Given the description of an element on the screen output the (x, y) to click on. 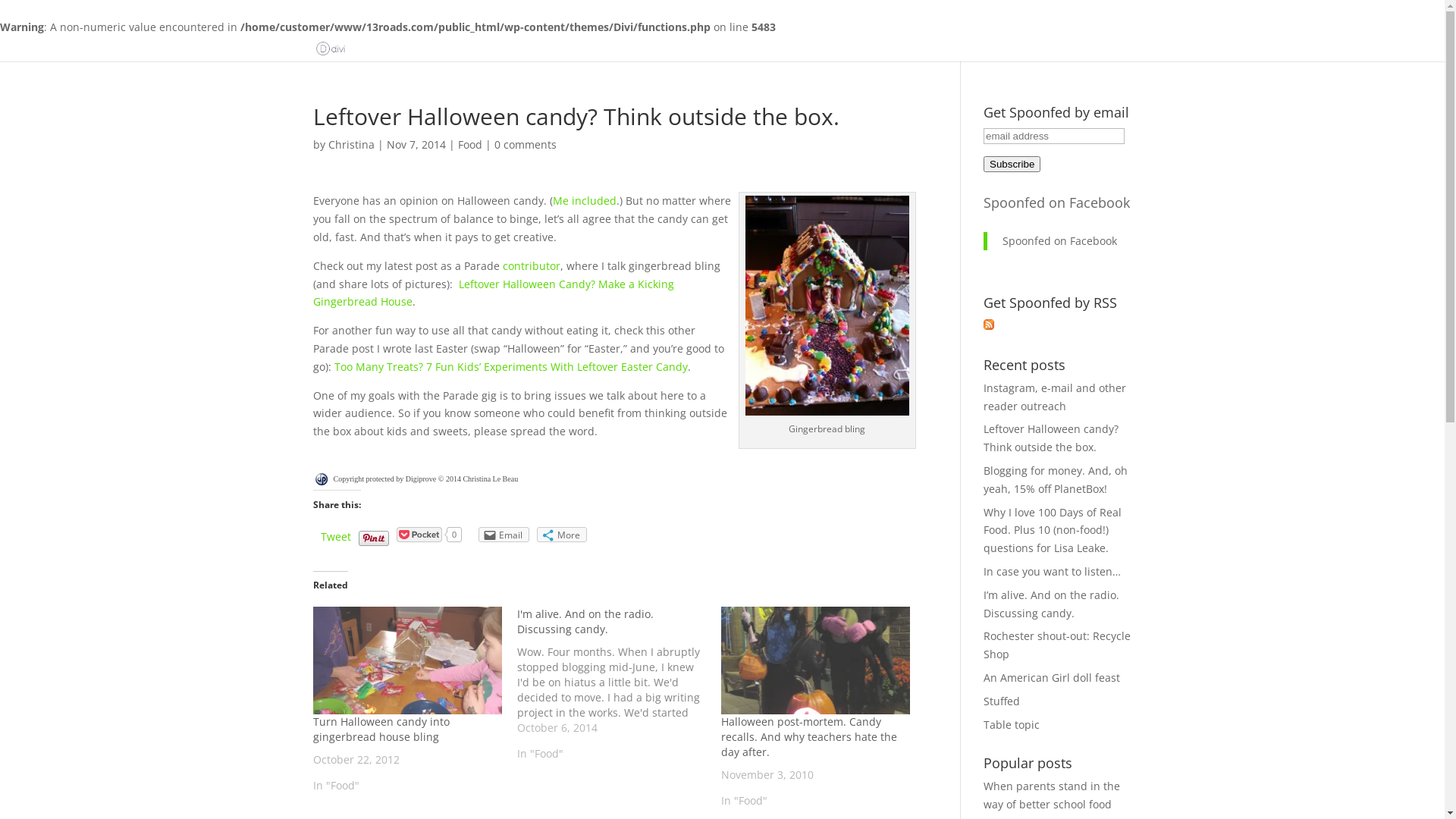
Turn Halloween candy into gingerbread house bling Element type: text (380, 728)
Leftover Halloween candy? Think outside the box. Element type: text (1050, 437)
I'm alive. And on the radio. Discussing candy. Element type: text (585, 621)
Leftover Halloween Candy? Make a Kicking Gingerbread House Element type: text (492, 292)
Christina Element type: text (350, 144)
Subscribe to Posts Element type: hover (988, 325)
Rochester shout-out: Recycle Shop Element type: text (1056, 644)
When parents stand in the way of better school food Element type: text (1051, 794)
Food Element type: text (470, 144)
I'm alive. And on the radio. Discussing candy. Element type: hover (619, 683)
Instagram, e-mail and other reader outreach Element type: text (1054, 396)
Blogging for money. And, oh yeah, 15% off PlanetBox! Element type: text (1055, 479)
Tweet Element type: text (335, 536)
Table topic Element type: text (1011, 724)
An American Girl doll feast Element type: text (1051, 677)
Turn Halloween candy into gingerbread house bling Element type: hover (406, 660)
Stuffed Element type: text (1001, 700)
Subscribe Element type: text (1011, 164)
Email Element type: text (502, 534)
Spoonfed on Facebook Element type: text (1056, 202)
Spoonfed on Facebook Element type: text (1059, 240)
More Element type: text (561, 534)
contributor Element type: text (530, 265)
Me included Element type: text (583, 200)
0 comments Element type: text (525, 144)
